Given the description of an element on the screen output the (x, y) to click on. 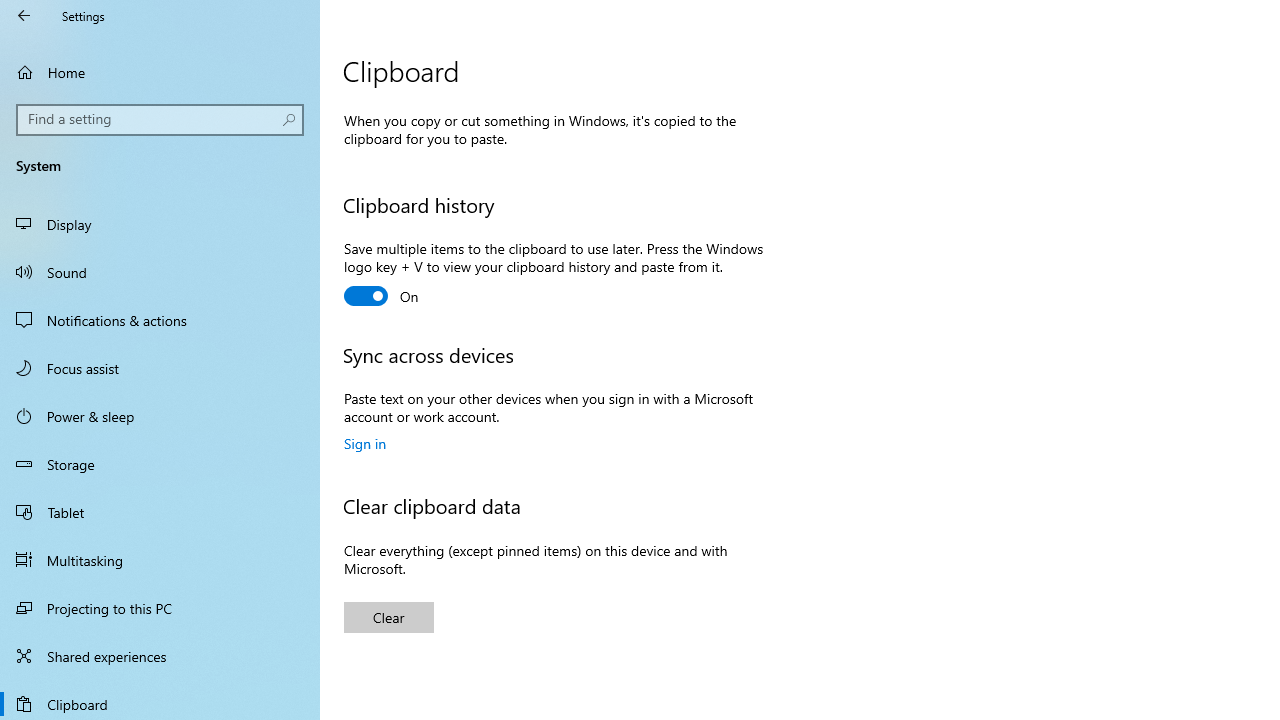
Notifications & actions (160, 319)
